Given the description of an element on the screen output the (x, y) to click on. 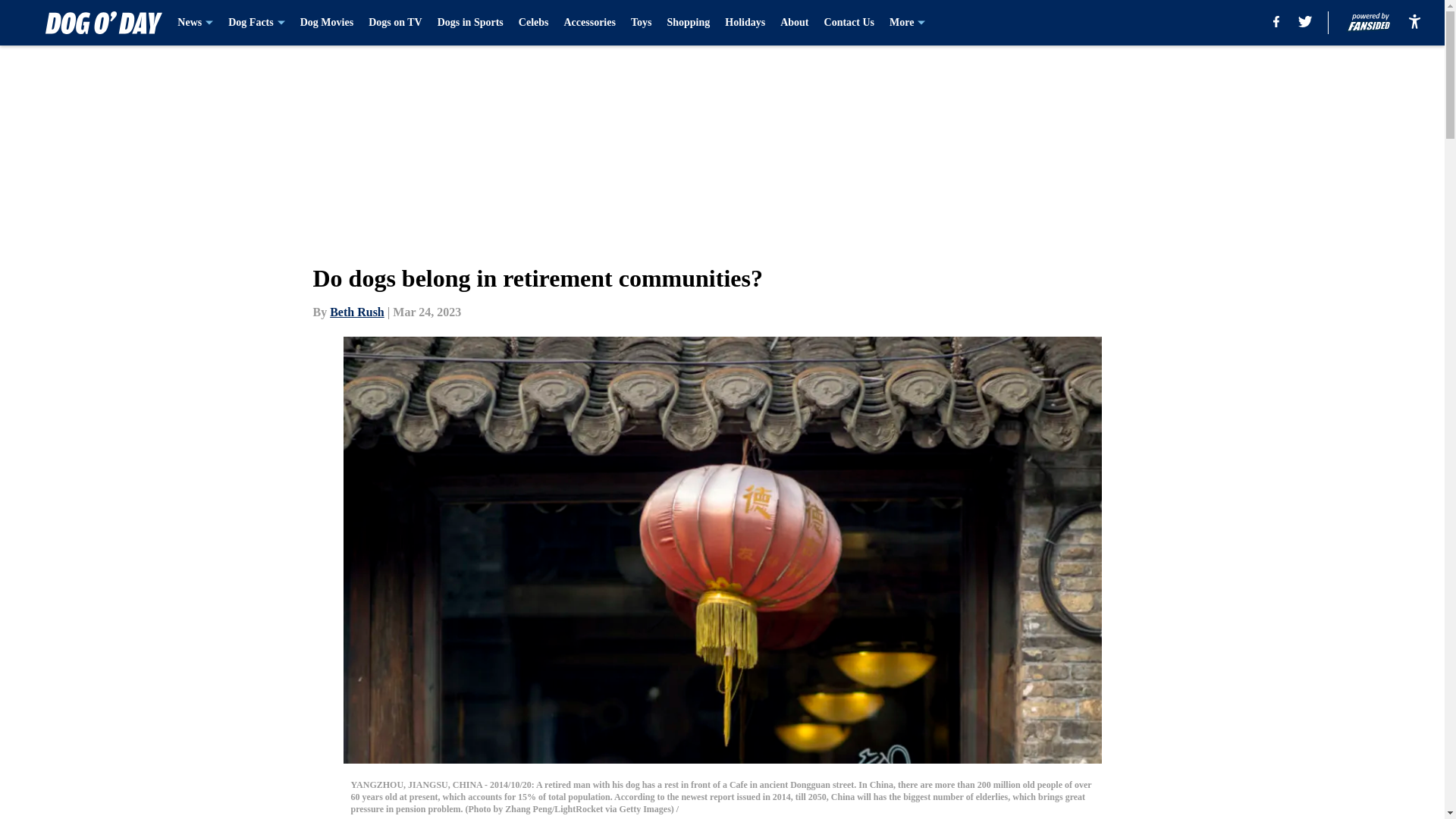
Dog Facts (256, 22)
About (794, 22)
Dog Movies (326, 22)
Contact Us (849, 22)
Accessories (588, 22)
Dogs on TV (395, 22)
News (194, 22)
Beth Rush (357, 311)
Dogs in Sports (470, 22)
More (906, 22)
